Given the description of an element on the screen output the (x, y) to click on. 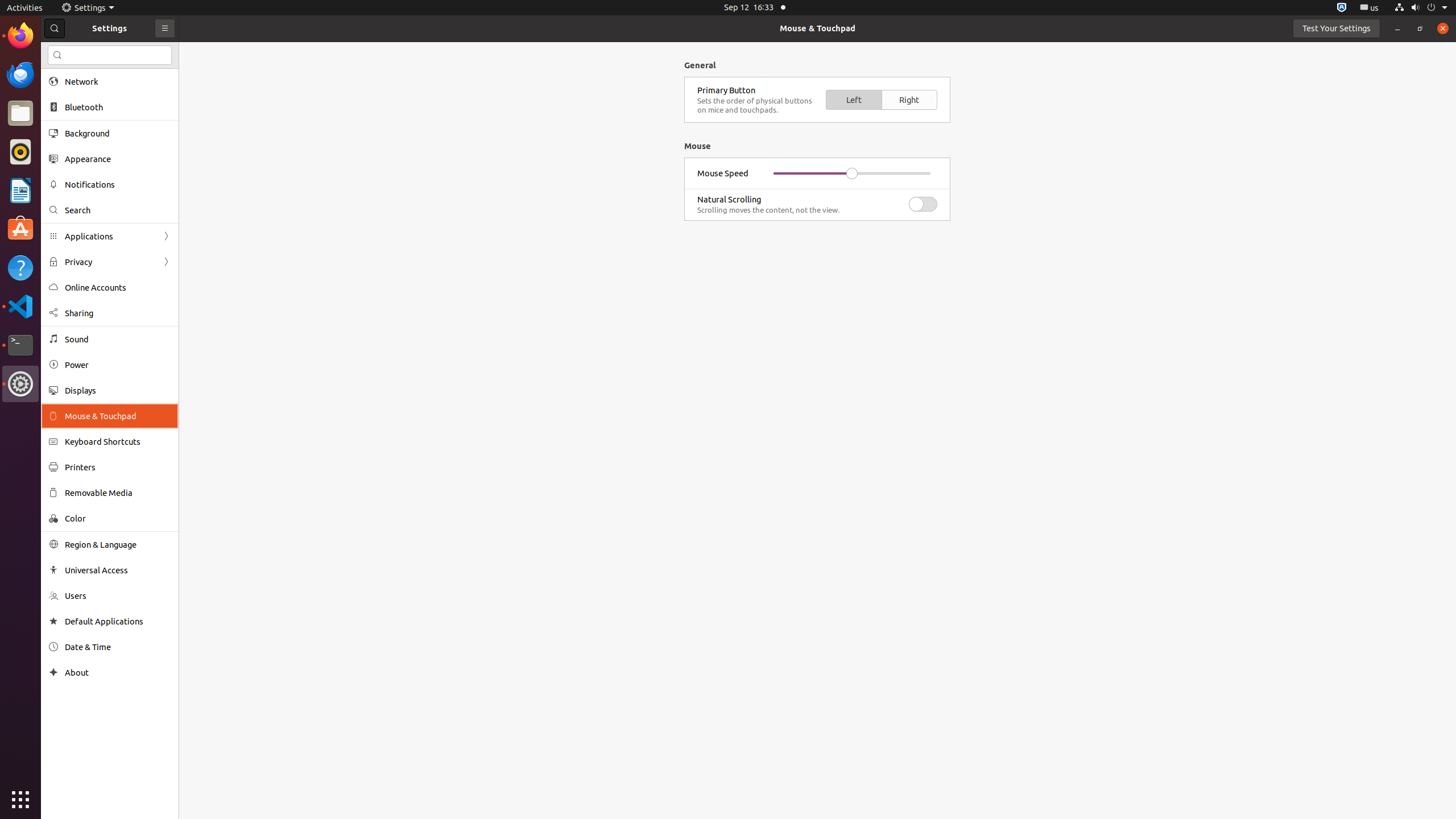
Date & Time Element type: label (117, 646)
Forward Element type: icon (165, 261)
Online Accounts Element type: label (117, 287)
Scrolling moves the content, not the view. Element type: label (798, 209)
